Given the description of an element on the screen output the (x, y) to click on. 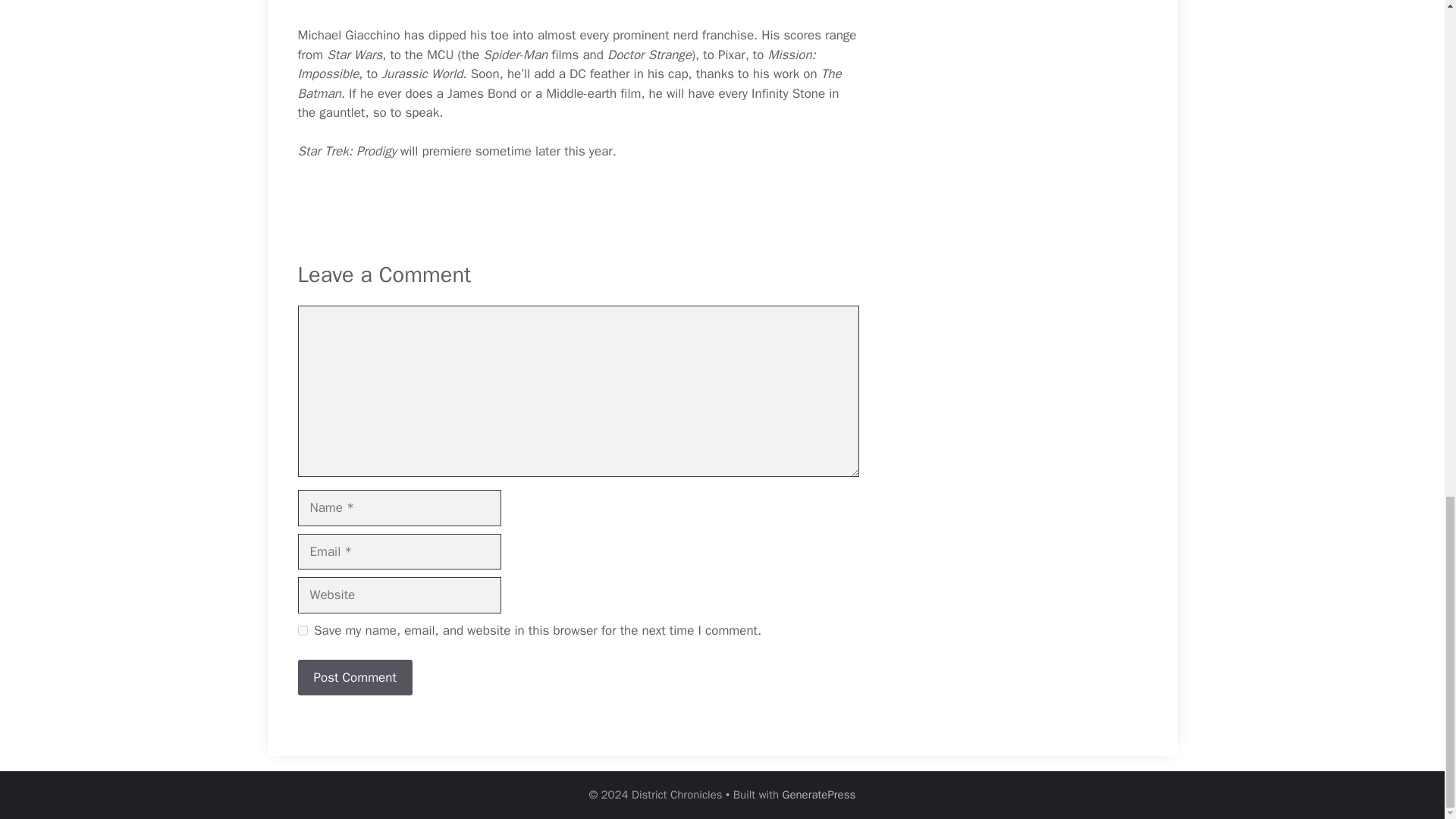
Batman Comics (318, 93)
Box Lunch - Spider-Man Collection (515, 54)
Scroll back to top (1406, 259)
Post Comment (354, 678)
yes (302, 630)
Batman (318, 93)
GeneratePress (819, 794)
Star Wars (353, 54)
Post Comment (354, 678)
Spider-Man (515, 54)
